Given the description of an element on the screen output the (x, y) to click on. 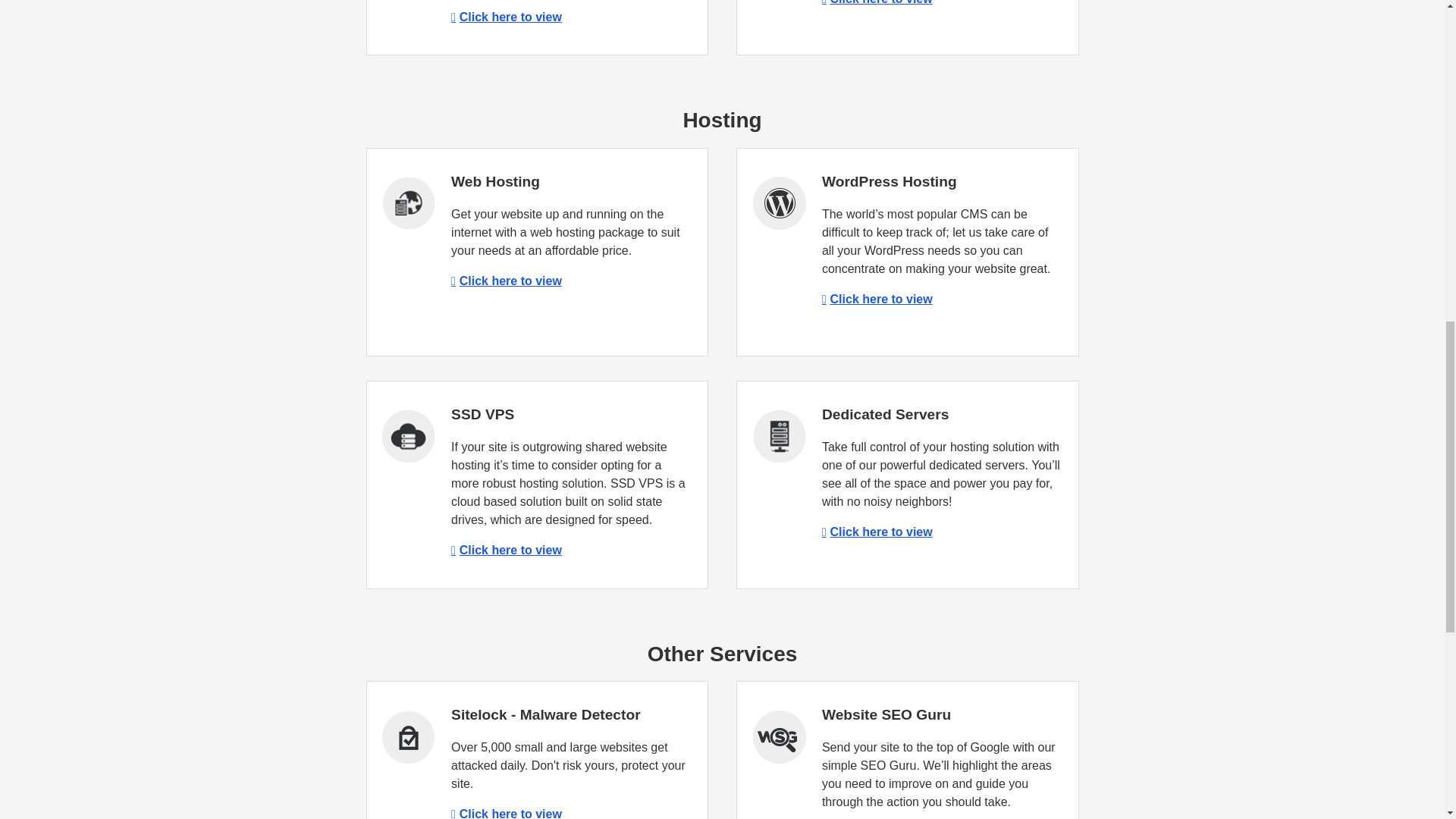
Click here to view (877, 531)
Click here to view (506, 549)
Click here to view (877, 2)
Click here to view (506, 813)
Click here to view (877, 298)
Click here to view (506, 16)
Click here to view (506, 280)
